Given the description of an element on the screen output the (x, y) to click on. 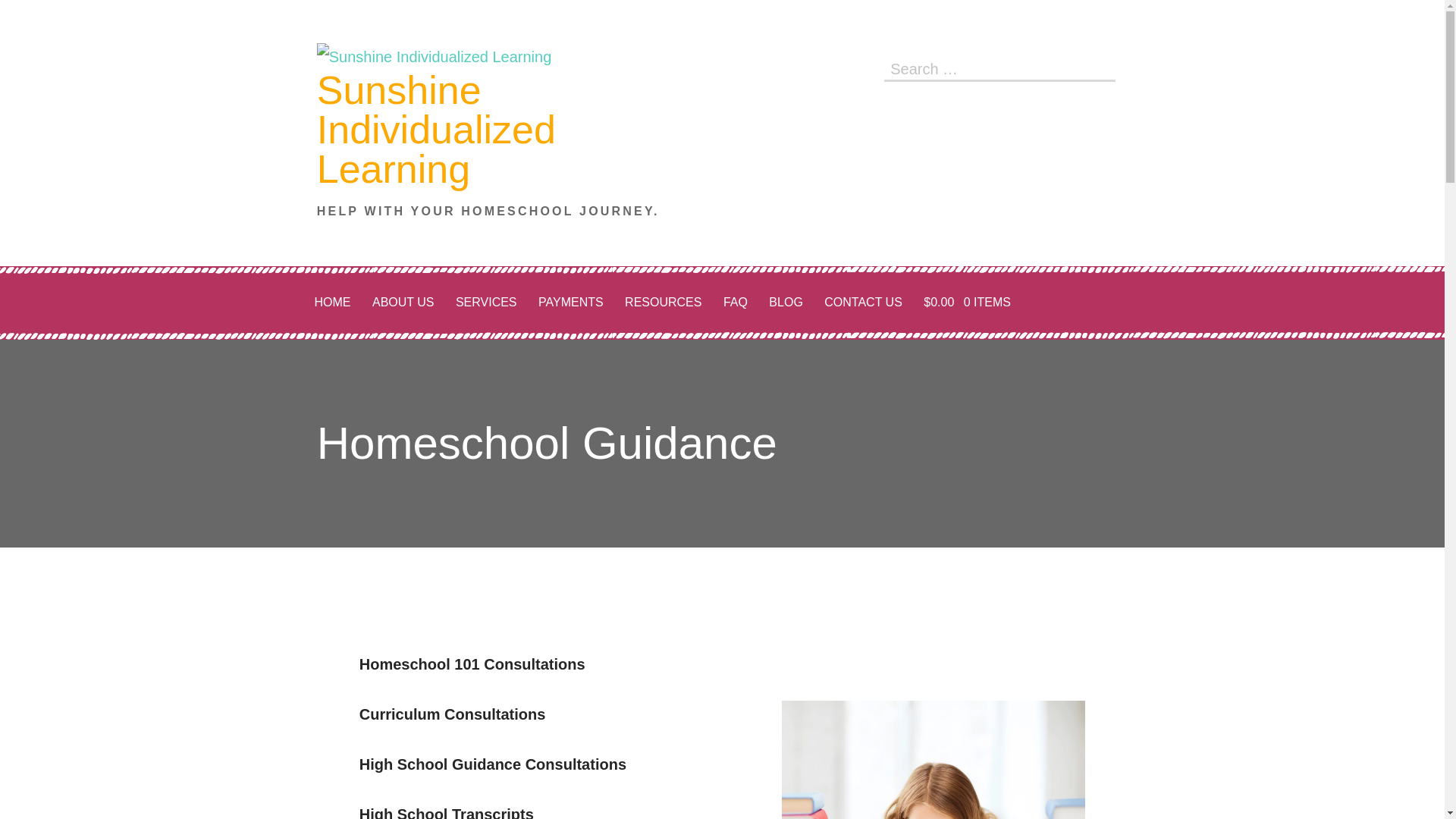
Search (1099, 67)
Search (1099, 67)
ABOUT US (403, 302)
RESOURCES (662, 302)
CONTACT US (863, 302)
SERVICES (485, 302)
PAYMENTS (570, 302)
HOME (331, 302)
Search (1099, 67)
Sunshine Individualized Learning (436, 128)
